Given the description of an element on the screen output the (x, y) to click on. 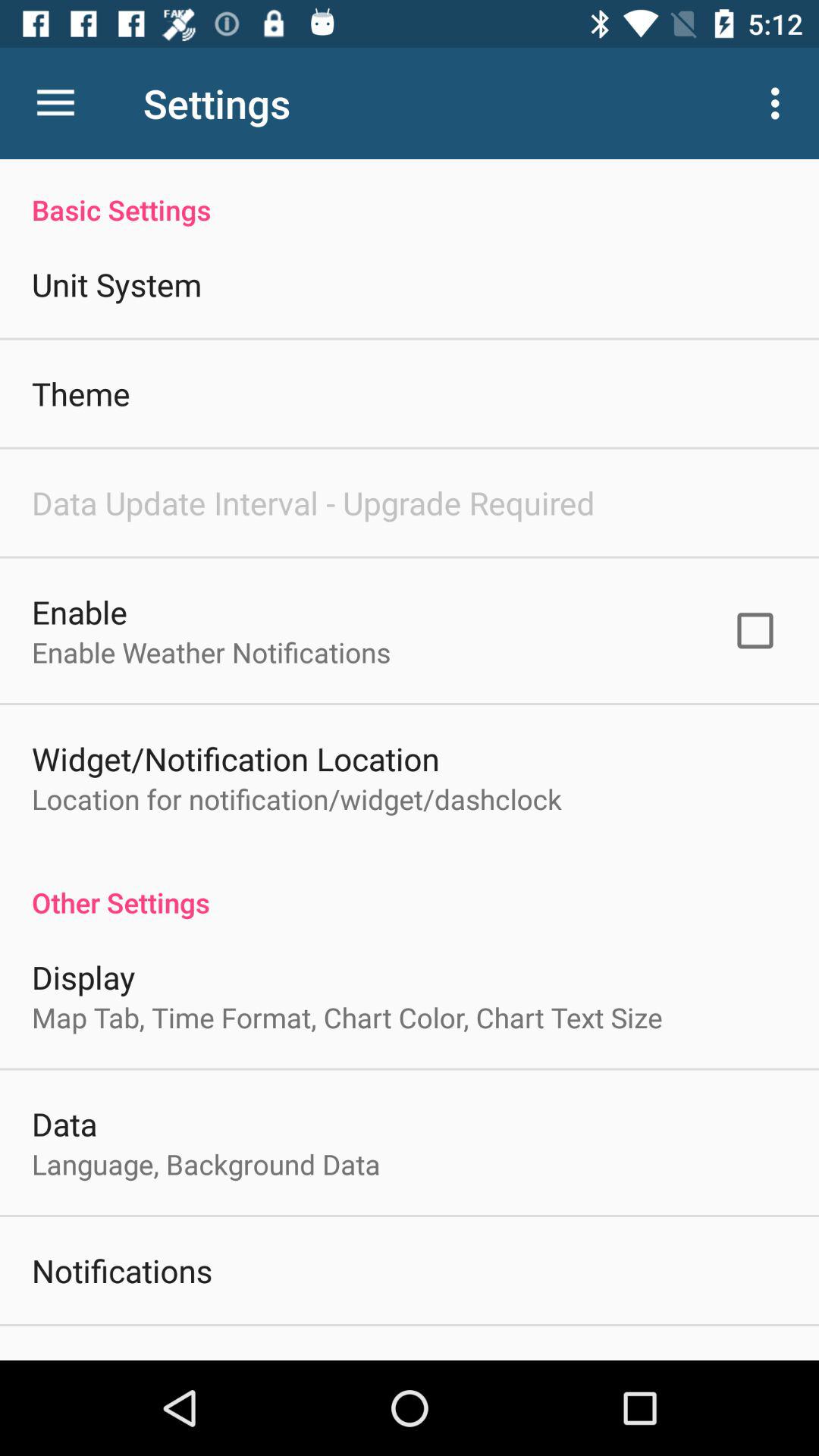
turn off item below data item (205, 1164)
